Given the description of an element on the screen output the (x, y) to click on. 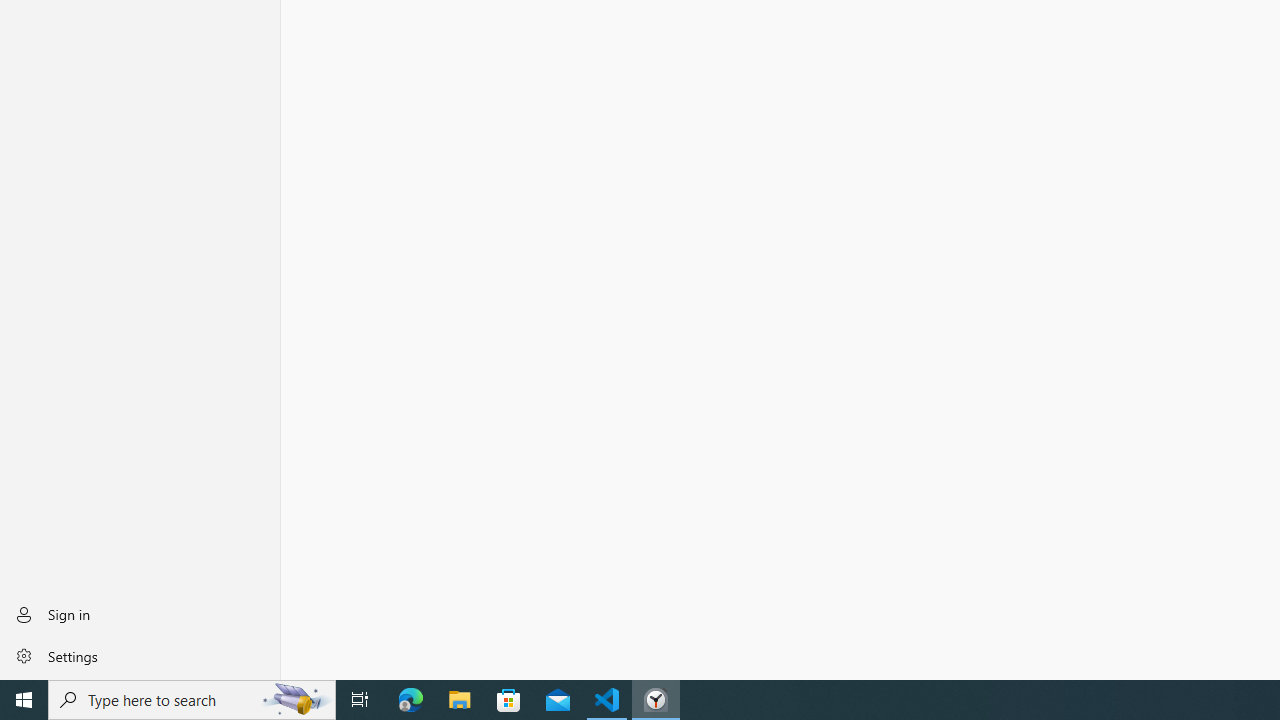
Settings (139, 655)
Clock - 1 running window (656, 699)
Sign in (139, 614)
